Given the description of an element on the screen output the (x, y) to click on. 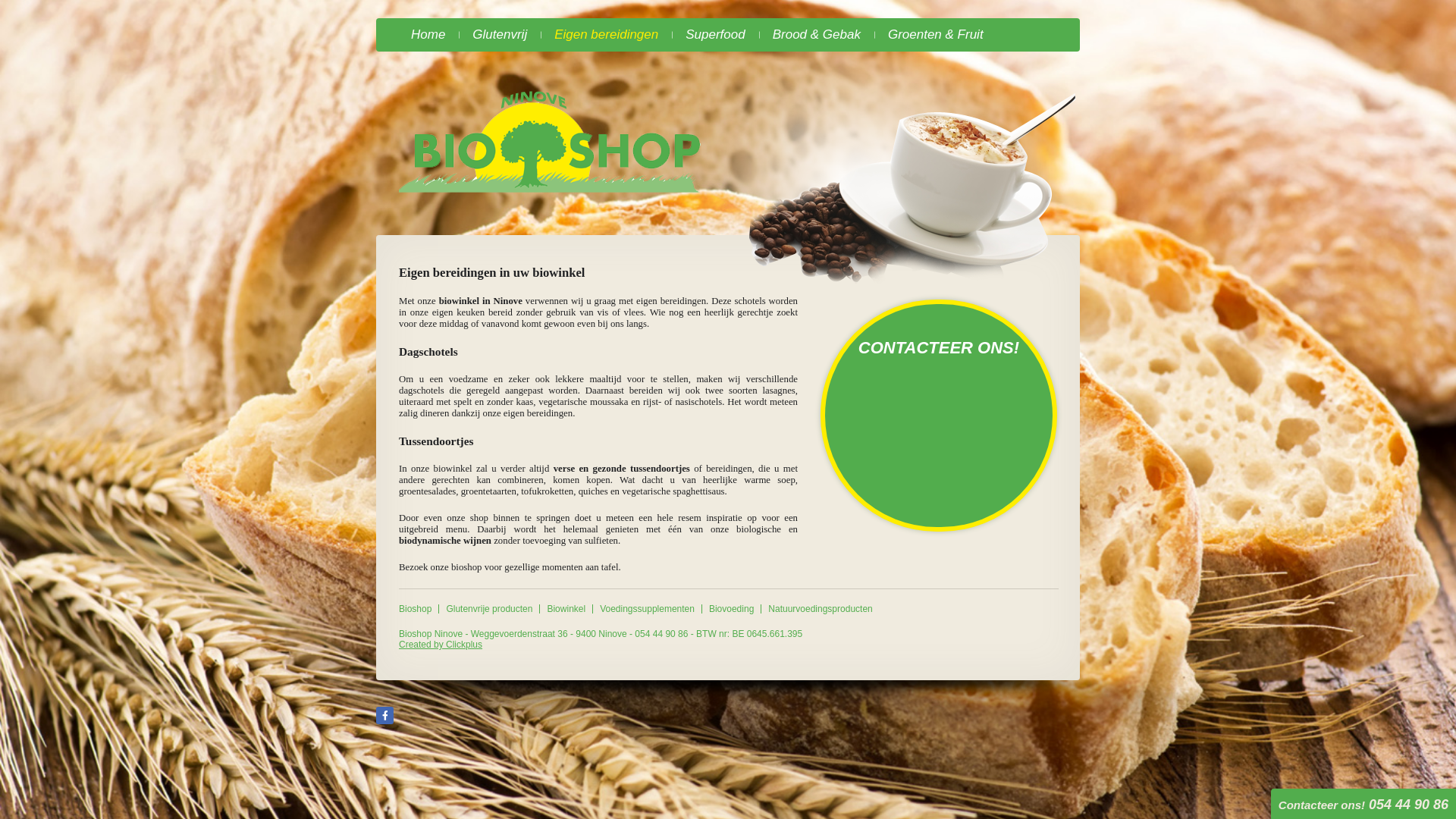
Groenten & Fruit Element type: text (935, 34)
Biowinkel Element type: text (565, 608)
Glutenvrije producten Element type: text (489, 608)
Home Element type: text (427, 34)
Bioshop Element type: text (418, 608)
Natuurvoedingsproducten Element type: text (819, 608)
Voedingssupplementen Element type: text (647, 608)
Facebook Element type: hover (385, 715)
Brood & Gebak Element type: text (816, 34)
Superfood Element type: text (714, 34)
Bioshop Ninove Element type: hover (550, 140)
Created by Clickplus Element type: text (440, 644)
Biovoeding Element type: text (731, 608)
Glutenvrij Element type: text (499, 34)
Eigen bereidingen Element type: text (605, 34)
